Given the description of an element on the screen output the (x, y) to click on. 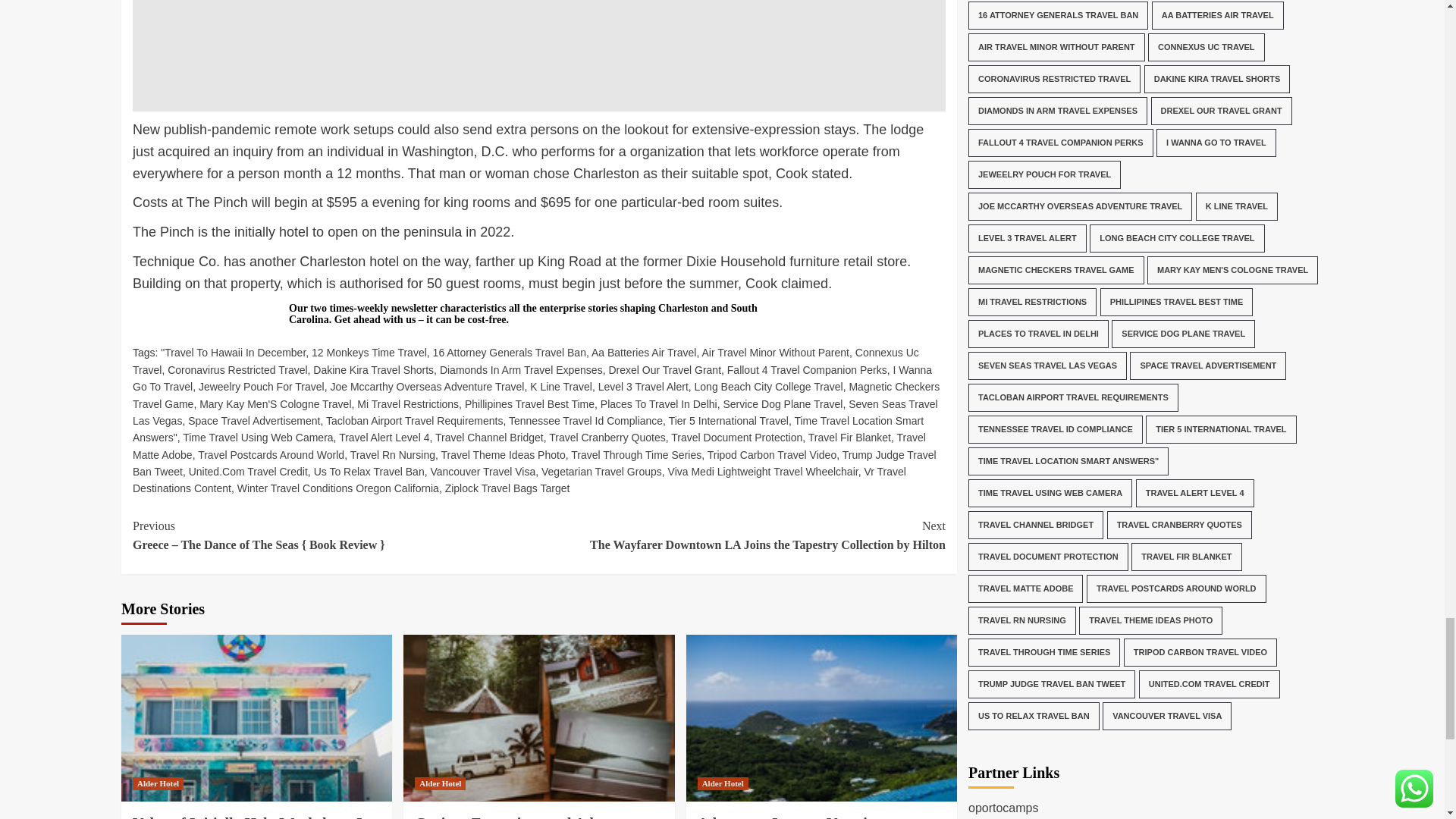
Level 3 Travel Alert (643, 386)
"Travel To Hawaii In December (232, 352)
K Line Travel (560, 386)
Dakine Kira Travel Shorts (373, 369)
Aa Batteries Air Travel (644, 352)
Fallout 4 Travel Companion Perks (806, 369)
Diamonds In Arm Travel Expenses (520, 369)
Jeweelry Pouch For Travel (261, 386)
16 Attorney Generals Travel Ban (509, 352)
I Wanna Go To Travel (531, 378)
Connexus Uc Travel (525, 360)
Air Travel Minor Without Parent (774, 352)
Adventure Journey Vacation spot: Gulag Prison Camp Perm-36 (820, 717)
Coronavirus Restricted Travel (237, 369)
